Given the description of an element on the screen output the (x, y) to click on. 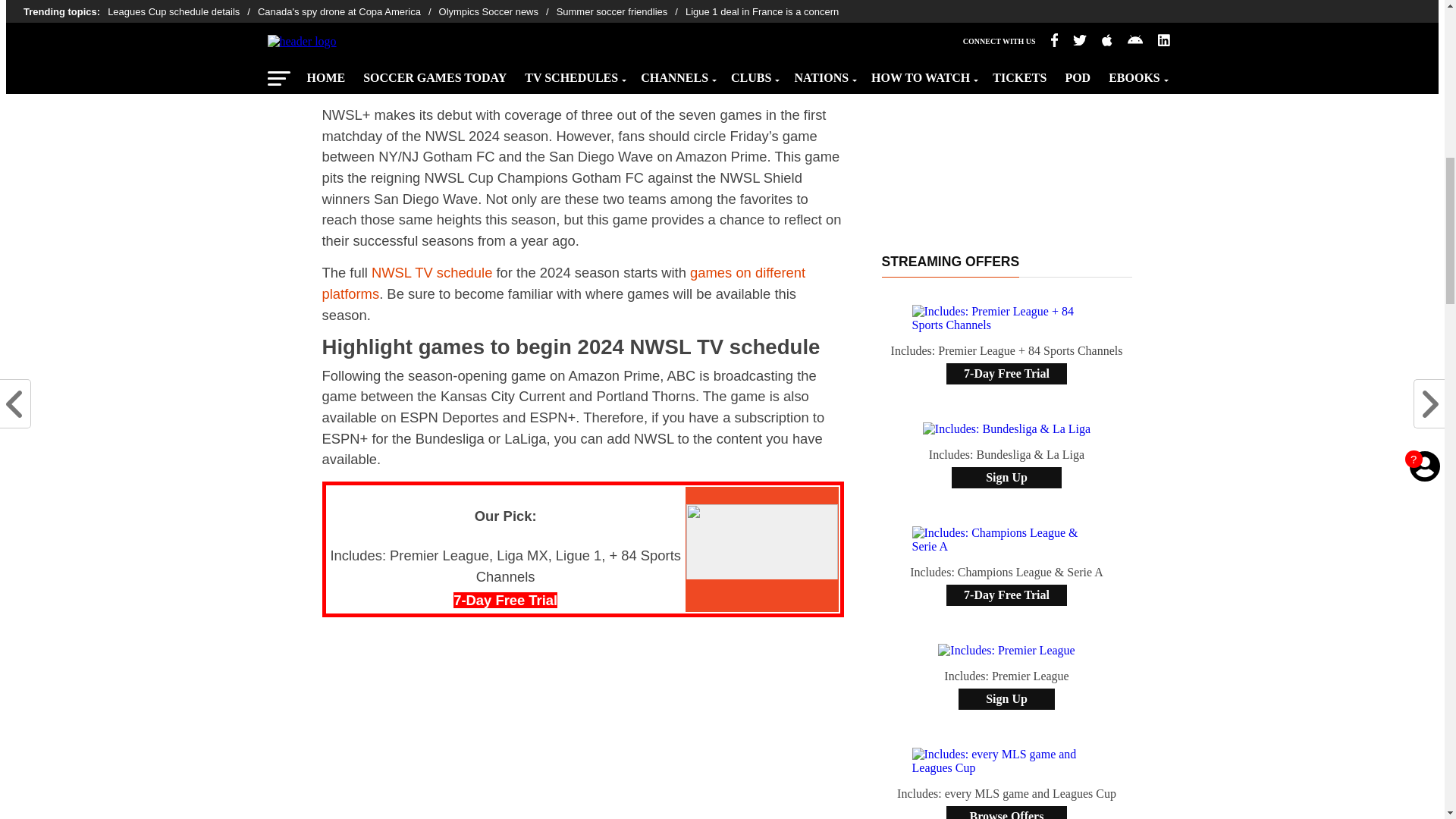
NWSL TV schedule (431, 272)
